Given the description of an element on the screen output the (x, y) to click on. 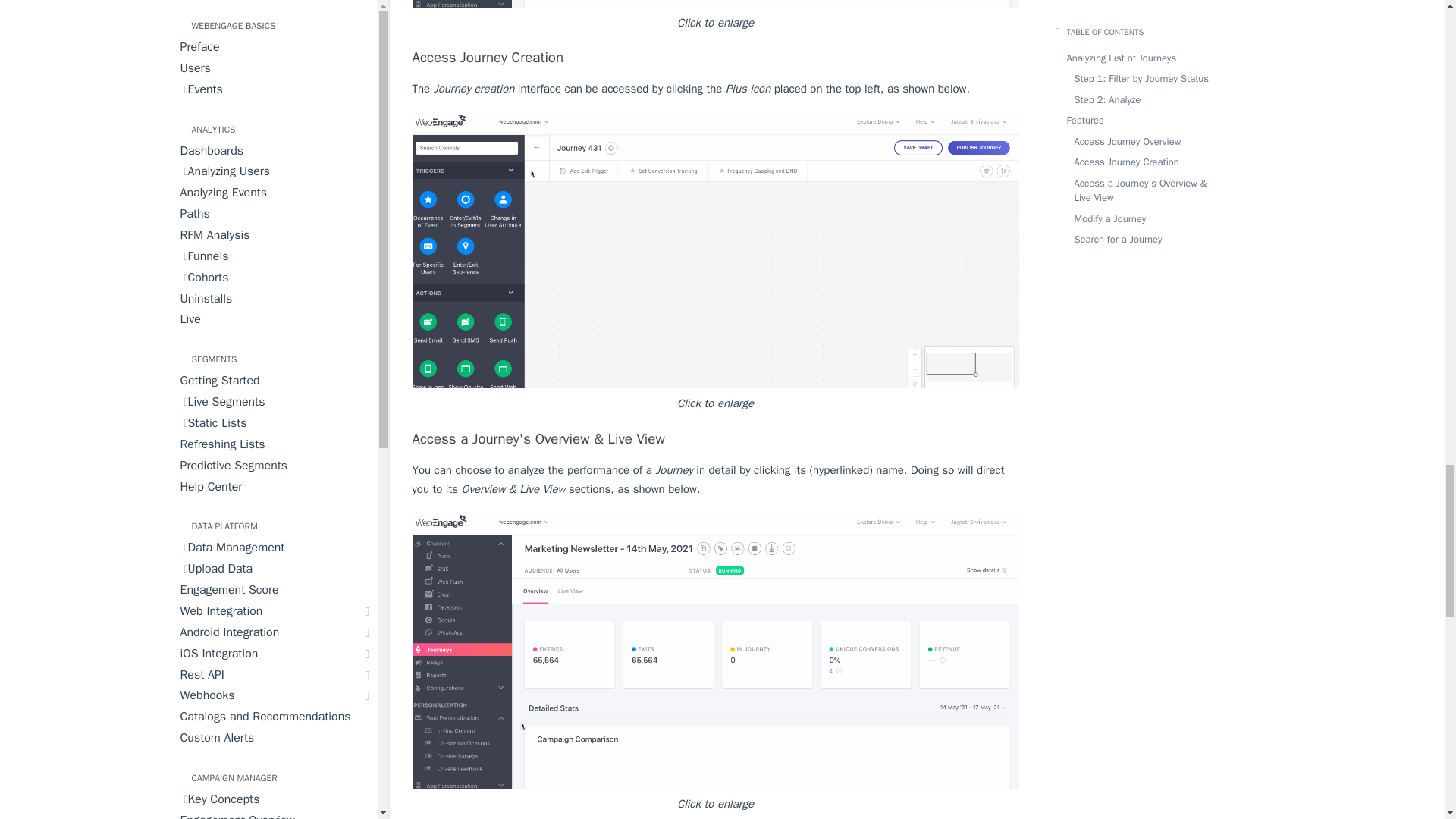
Access Journey Creation (715, 56)
access-journey-overview.gif (715, 3)
